Given the description of an element on the screen output the (x, y) to click on. 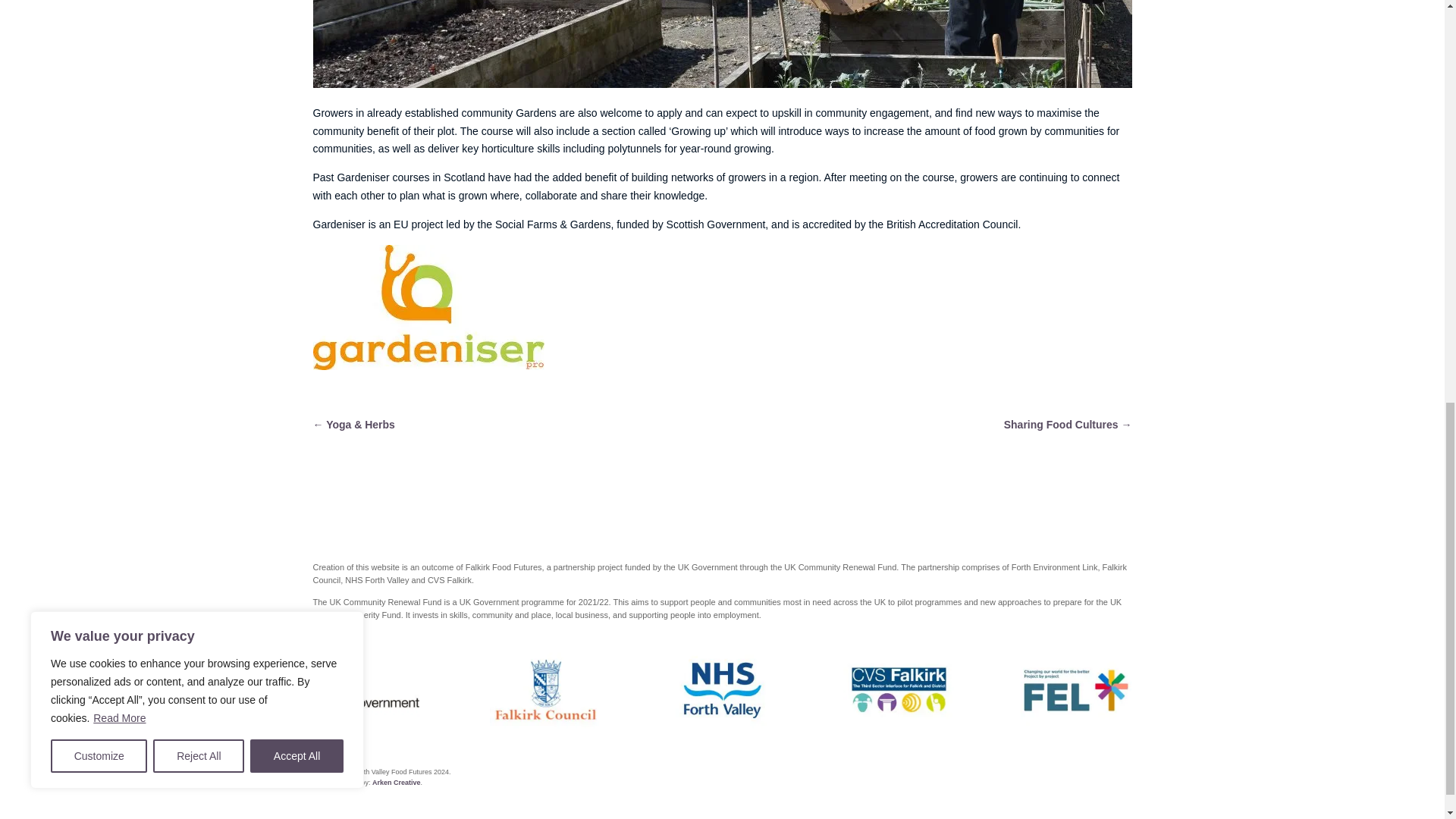
Visit the FEL website (1076, 690)
Visit the CVS Falkirk website (899, 690)
Visit the HM Government website (368, 690)
Visit the Falkirk Council website (545, 690)
Visit the NHS Forth Valley website (721, 690)
